Given the description of an element on the screen output the (x, y) to click on. 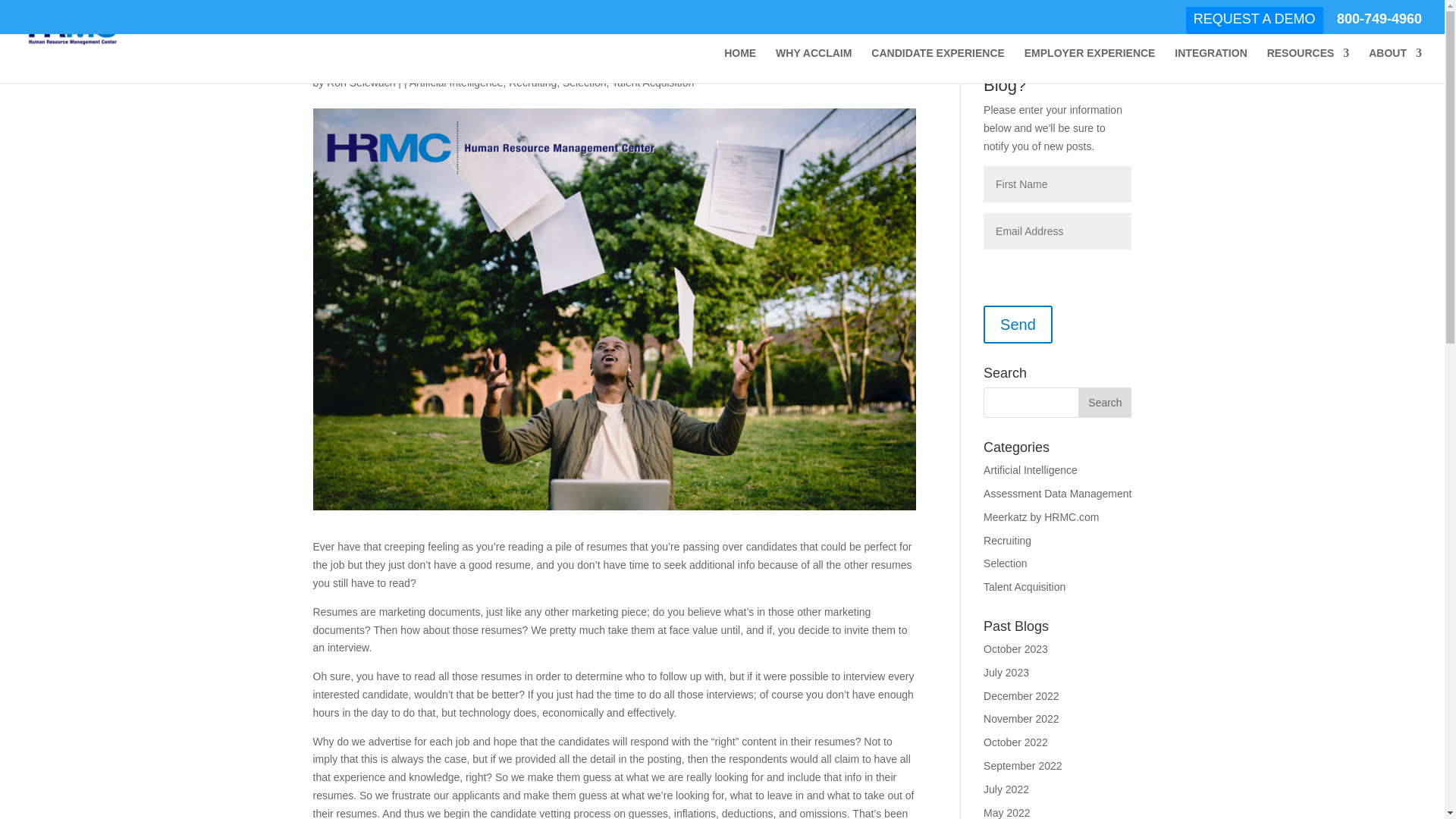
Send (1018, 324)
ABOUT (1395, 65)
EMPLOYER EXPERIENCE (1090, 65)
INTEGRATION (1210, 65)
Artificial Intelligence (456, 82)
Selection (584, 82)
800-749-4960 (1379, 24)
Send (1018, 324)
Posts by Ron Selewach (360, 82)
Search (1104, 402)
